Given the description of an element on the screen output the (x, y) to click on. 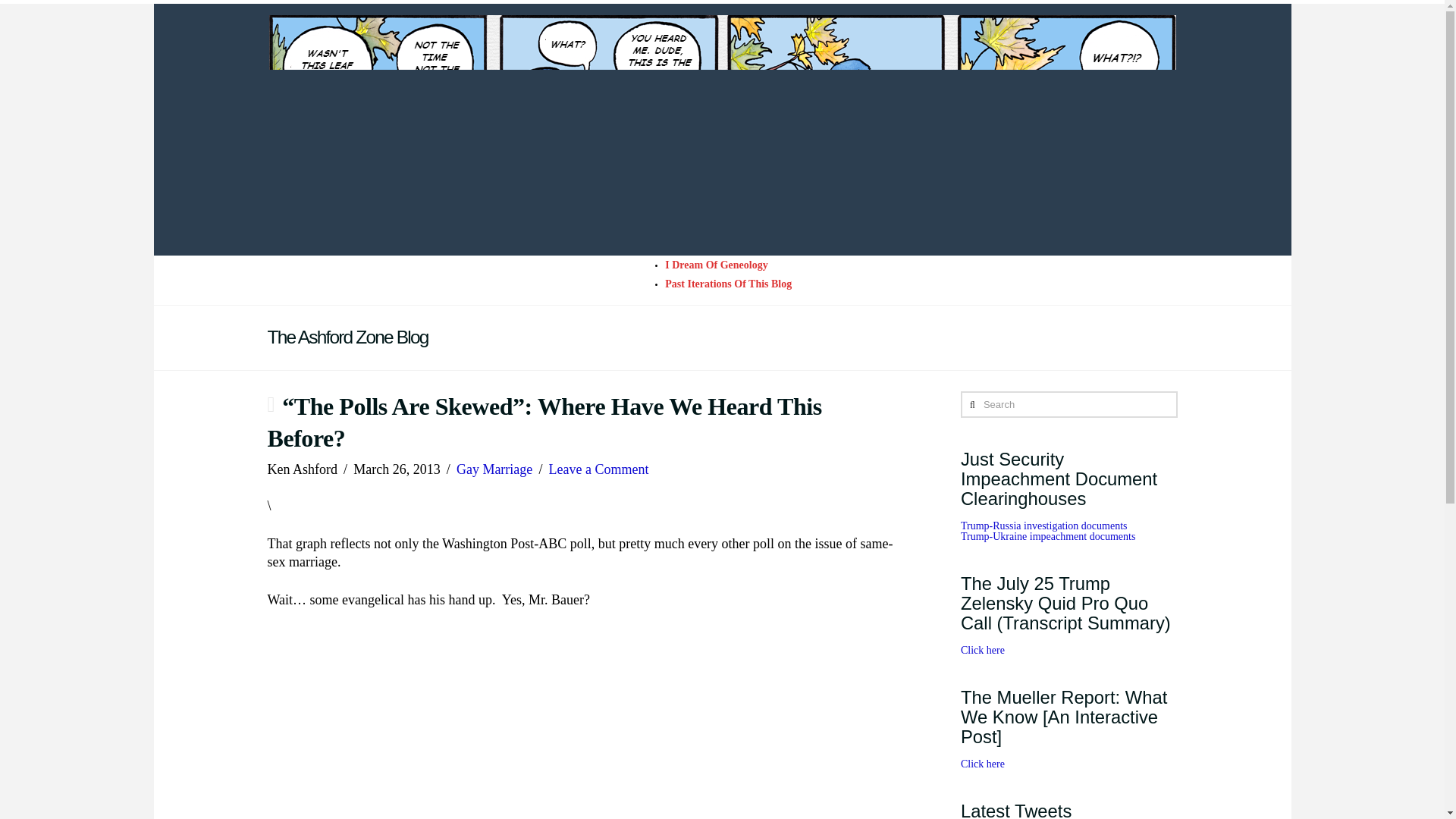
Leave a Comment (598, 468)
Click here (982, 763)
I Dream Of Geneology (716, 265)
Trump-Ukraine impeachment documents (1047, 536)
Past Iterations Of This Blog (728, 283)
Trump-Russia investigation documents (1043, 525)
Gay Marriage (494, 468)
Click here (982, 650)
